Given the description of an element on the screen output the (x, y) to click on. 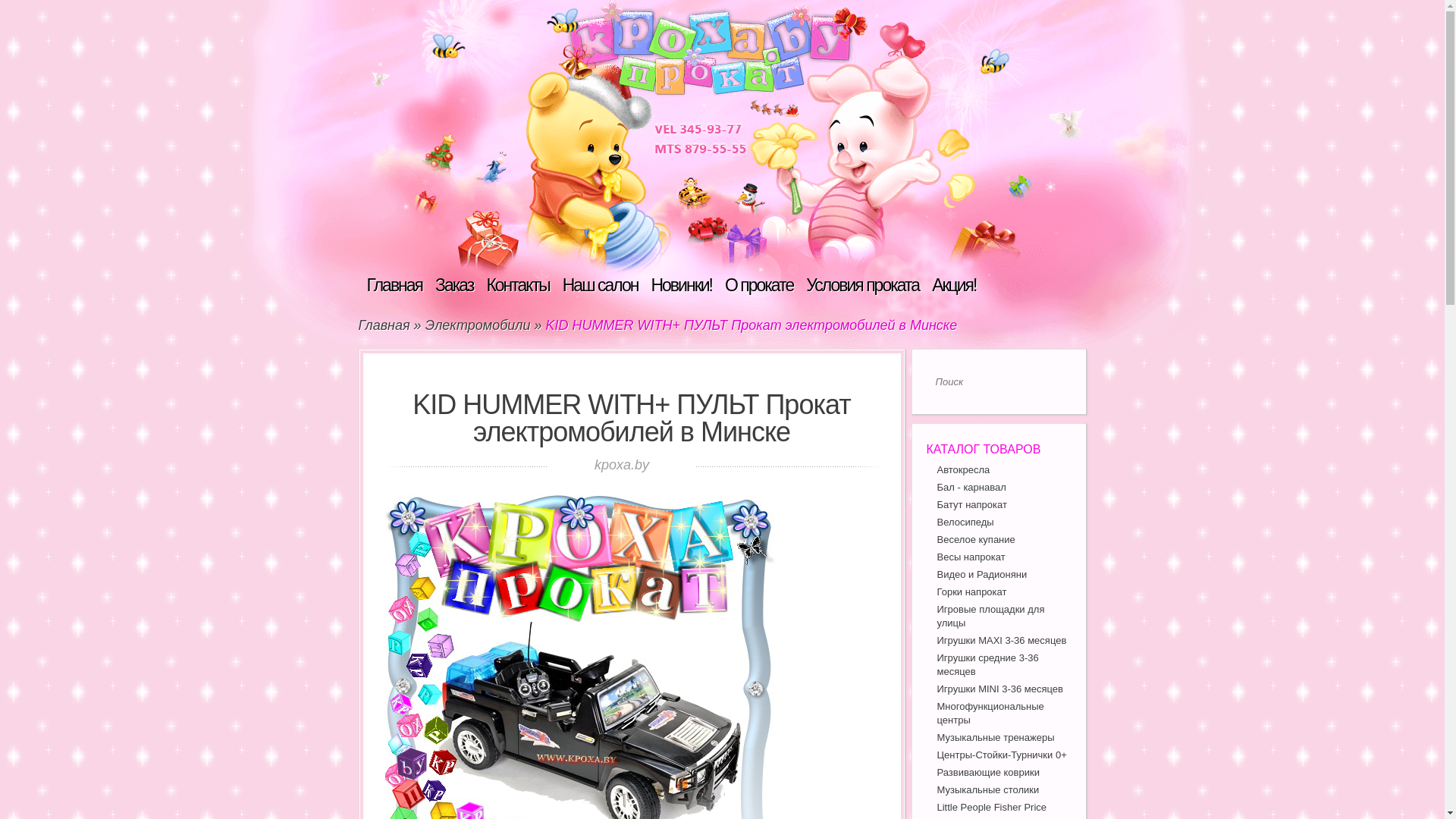
Little People Fisher Price Element type: text (992, 806)
